Given the description of an element on the screen output the (x, y) to click on. 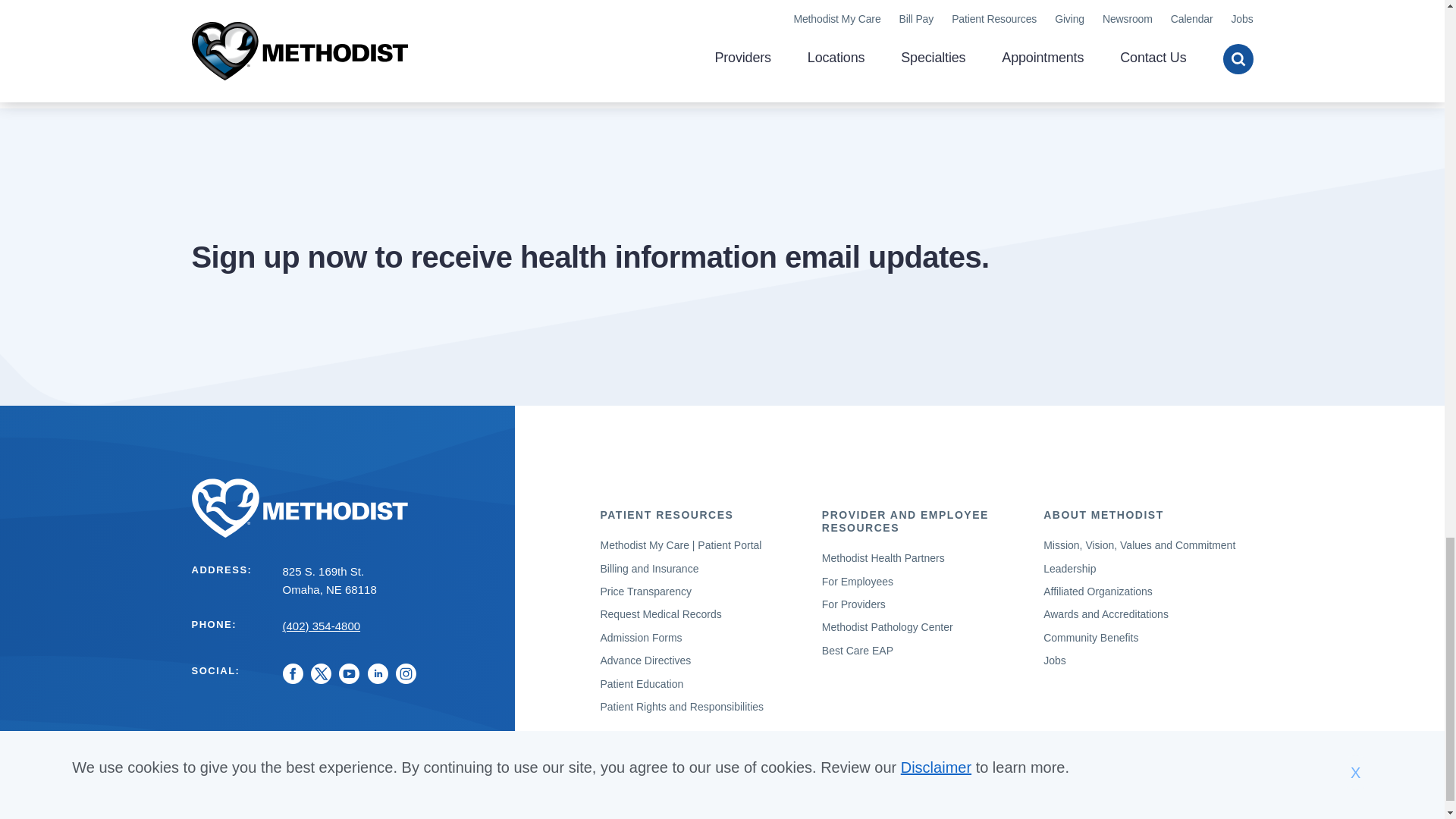
Methodist Health System (343, 508)
Home (343, 508)
